Given the description of an element on the screen output the (x, y) to click on. 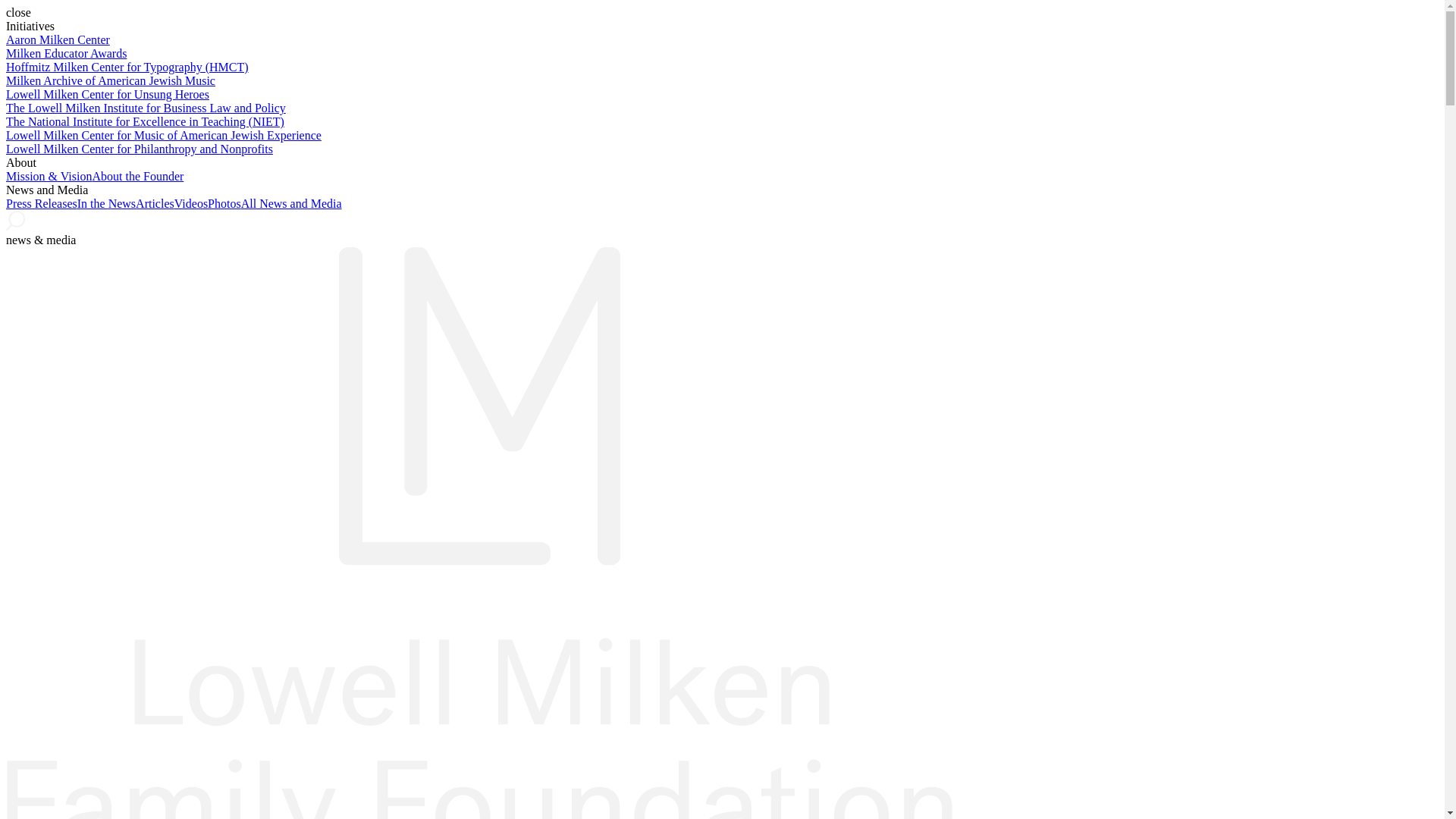
Press Releases (41, 203)
The Lowell Milken Institute for Business Law and Policy (145, 107)
Lowell Milken Center for Music of American Jewish Experience (163, 134)
Photos (224, 203)
All News and Media (291, 203)
Lowell Milken Center for Unsung Heroes (107, 93)
Videos (191, 203)
Aaron Milken Center (57, 39)
Milken Educator Awards (65, 52)
Lowell Milken Center for Philanthropy and Nonprofits (139, 148)
Articles (154, 203)
In the News (106, 203)
Milken Archive of American Jewish Music (110, 80)
About the Founder (137, 175)
